Given the description of an element on the screen output the (x, y) to click on. 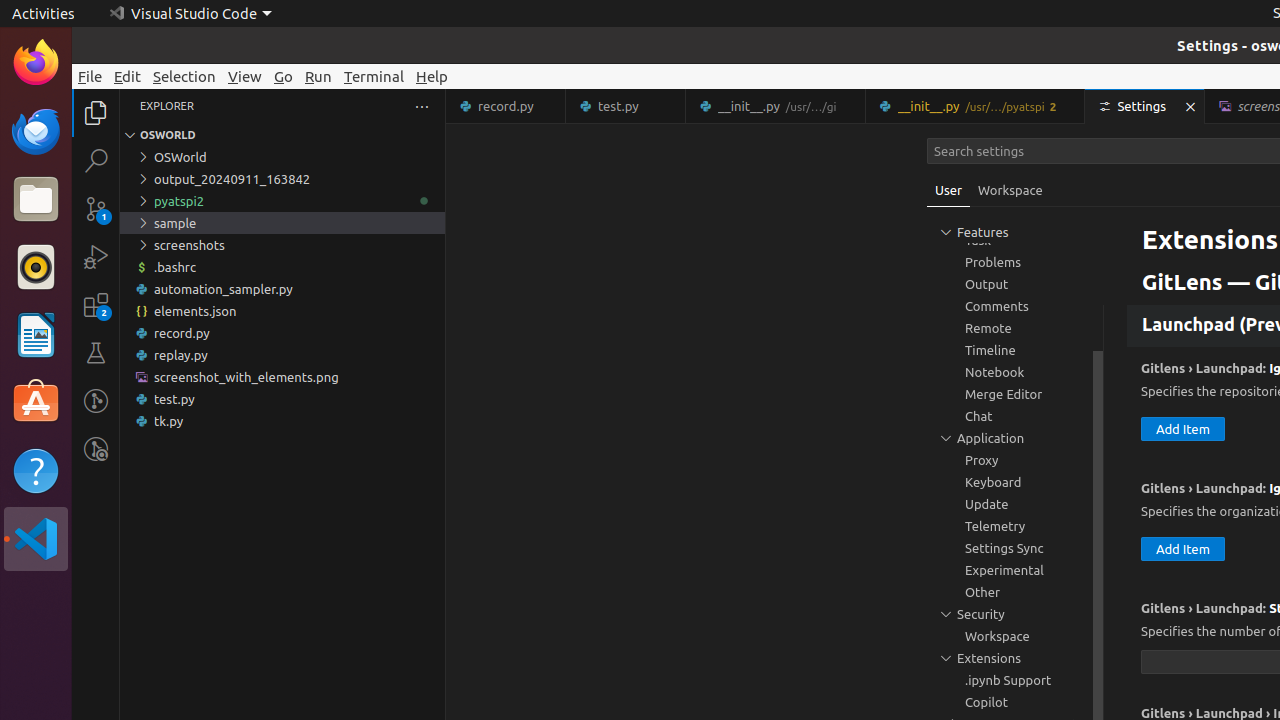
Output, group Element type: tree-item (1015, 284)
test.py Element type: page-tab (626, 106)
Experimental, group Element type: tree-item (1015, 570)
record.py Element type: page-tab (506, 106)
screenshot_with_elements.png Element type: tree-item (282, 377)
